Given the description of an element on the screen output the (x, y) to click on. 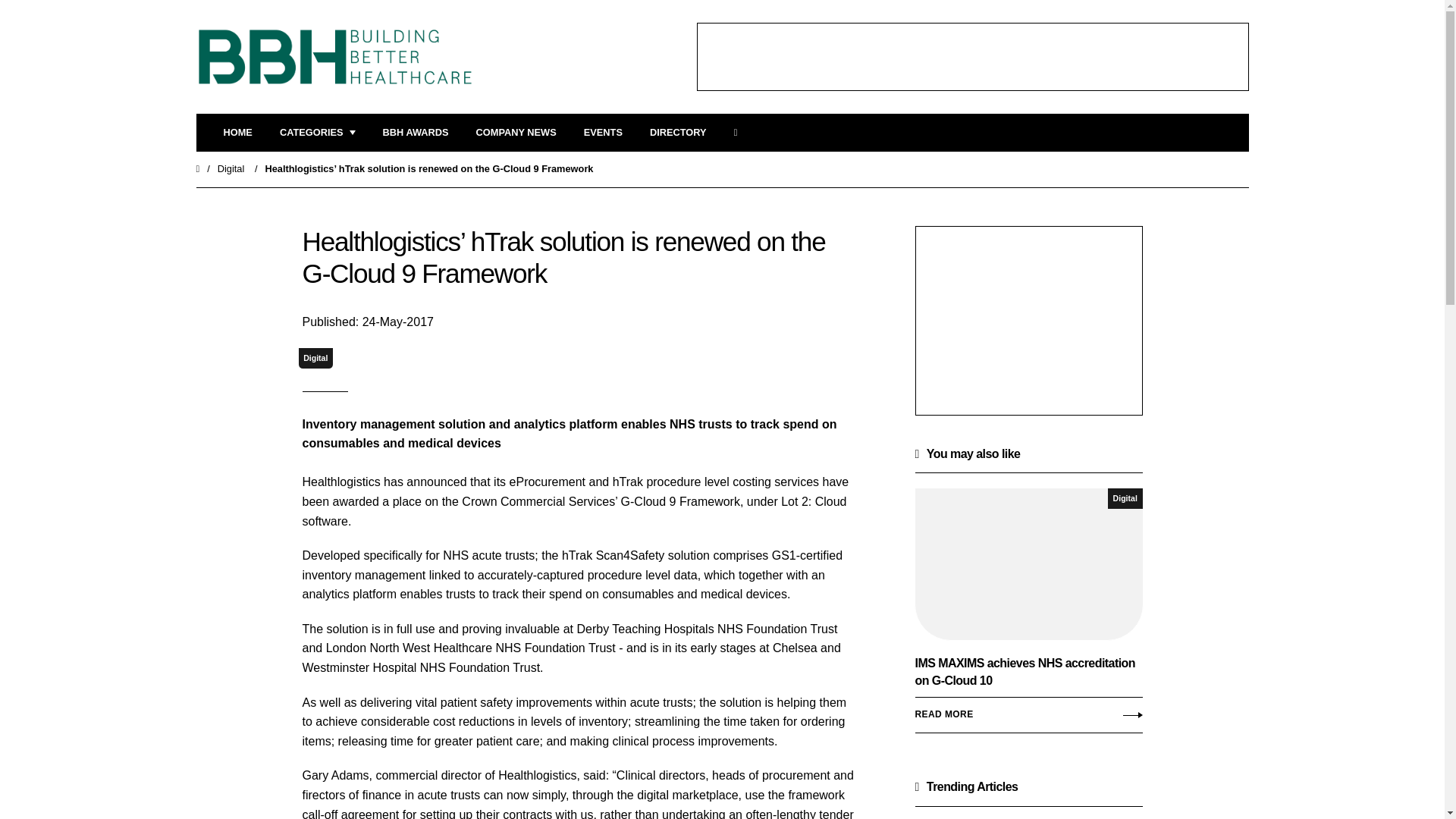
COMPANY NEWS (516, 133)
EVENTS (603, 133)
Digital (230, 168)
Directory (677, 133)
Digital (315, 358)
DIRECTORY (677, 133)
SEARCH (740, 133)
Building Better Healthcare Awards (415, 133)
CATEGORIES (317, 133)
BBH AWARDS (415, 133)
